Given the description of an element on the screen output the (x, y) to click on. 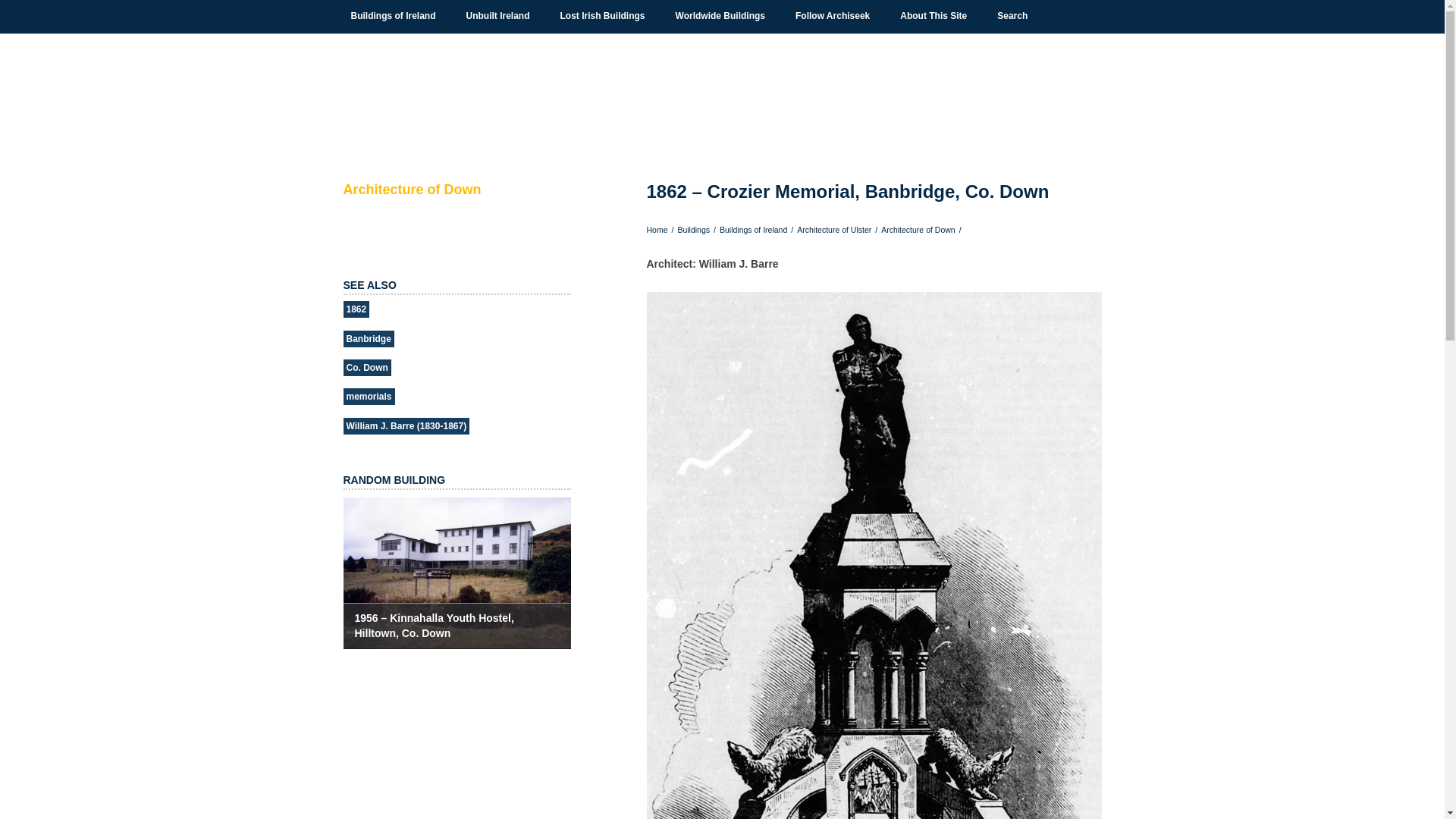
Buildings of Ireland (392, 16)
Buildings of Ireland (392, 16)
Lost Buildings of Ireland (602, 16)
Unbuilt Ireland (497, 16)
Worldwide Buildings (720, 16)
